Given the description of an element on the screen output the (x, y) to click on. 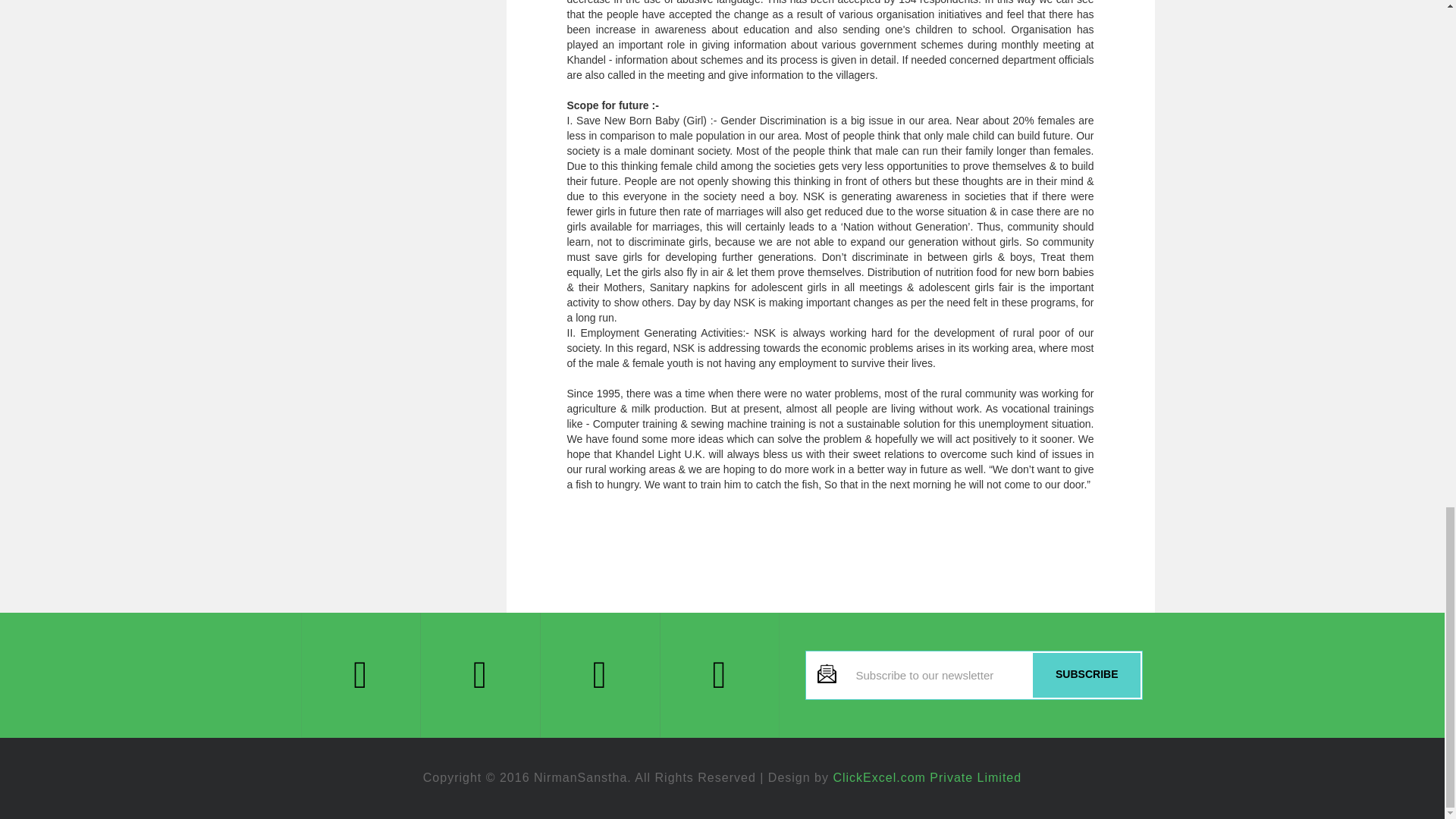
SUBSCRIBE (1086, 674)
